Given the description of an element on the screen output the (x, y) to click on. 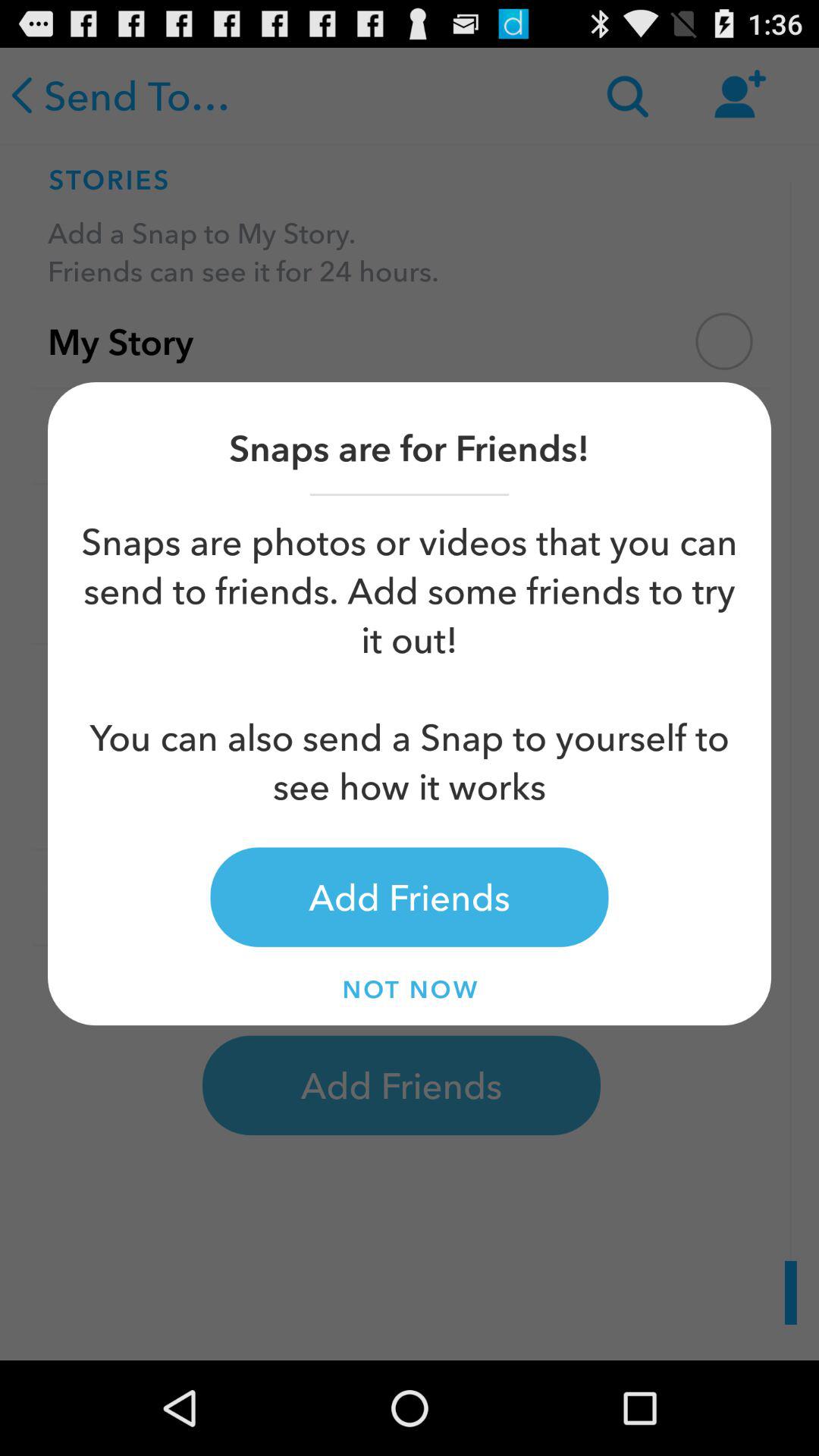
press not now (409, 989)
